Given the description of an element on the screen output the (x, y) to click on. 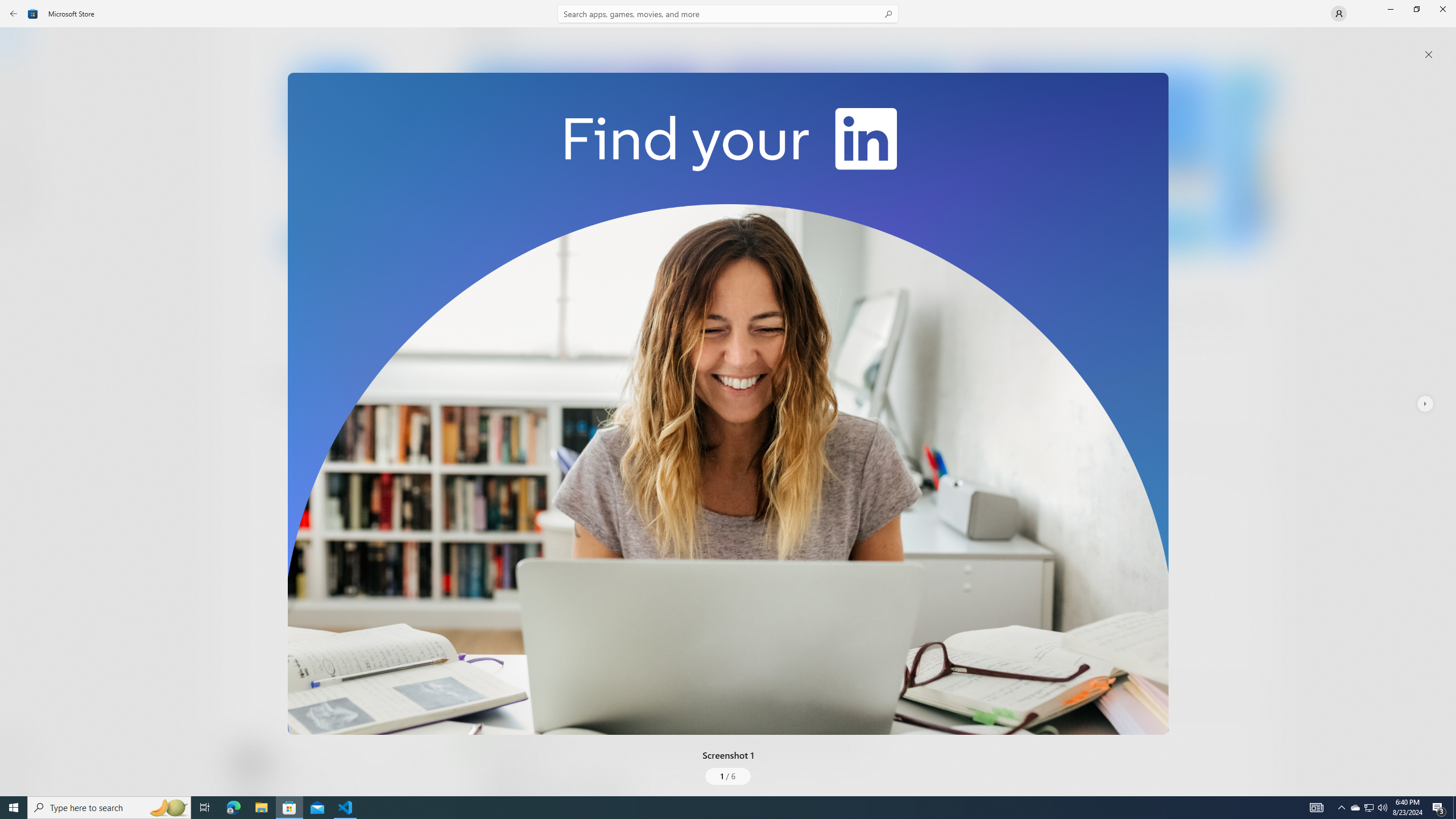
AutomationID: NavigationControl (728, 398)
Show all ratings and reviews (1253, 465)
Age rating: TEEN. Click for more information. (276, 762)
Screenshot 1 (727, 403)
LinkedIn (332, 189)
Screenshot 2 (836, 158)
Gaming (20, 115)
Library (20, 773)
3.9 stars. Click to skip to ratings and reviews (307, 315)
Social (329, 423)
close popup window (1428, 54)
User profile (1338, 13)
Show more (485, 426)
Entertainment (20, 185)
Restore Microsoft Store (1416, 9)
